Given the description of an element on the screen output the (x, y) to click on. 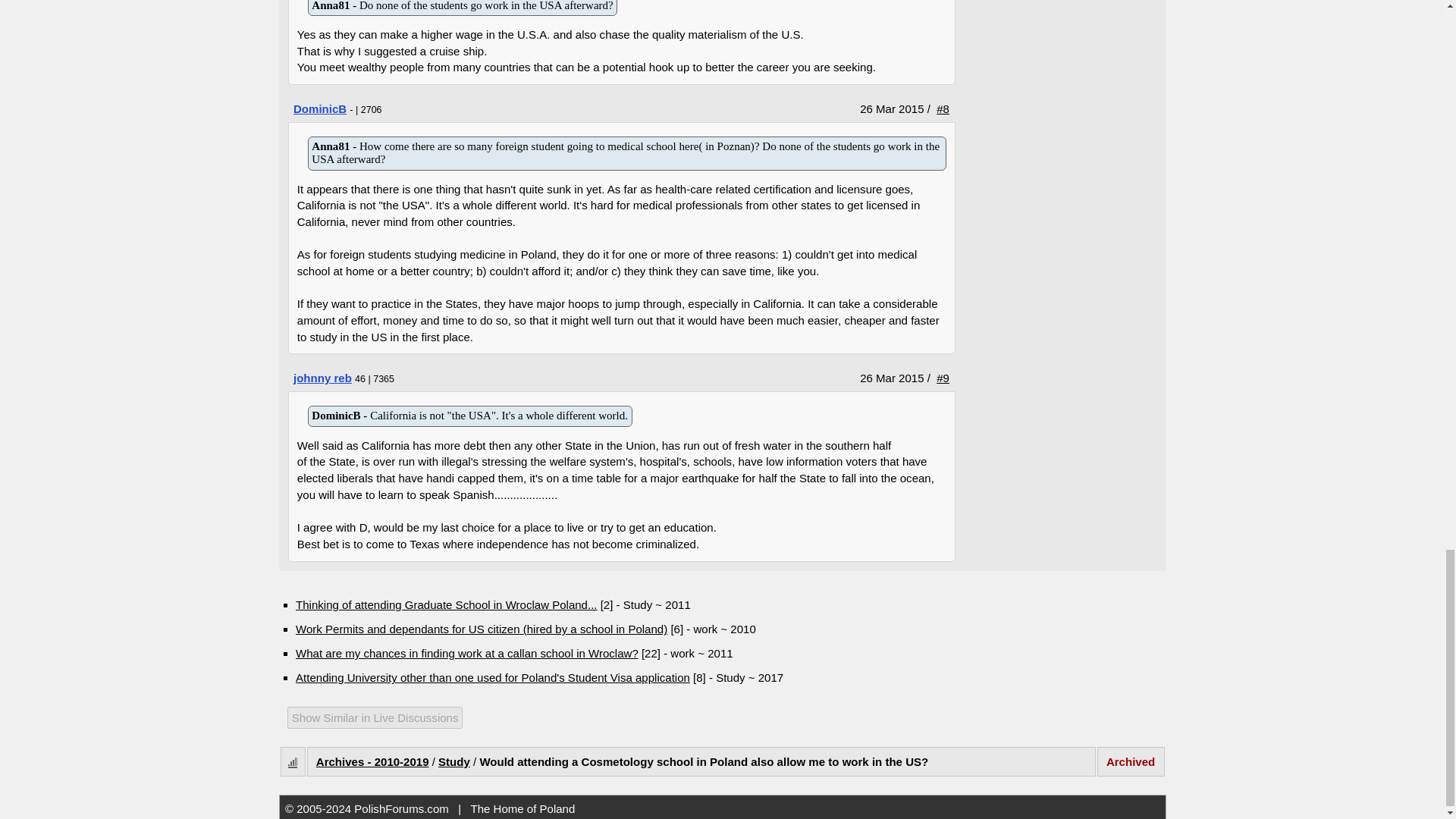
johnny reb (323, 377)
Archives - 2010-2019 (372, 756)
Thinking of attending Graduate School in Wroclaw Poland... (445, 604)
DominicB (320, 108)
Study (454, 756)
Show Similar in Live Discussions (291, 718)
